Given the description of an element on the screen output the (x, y) to click on. 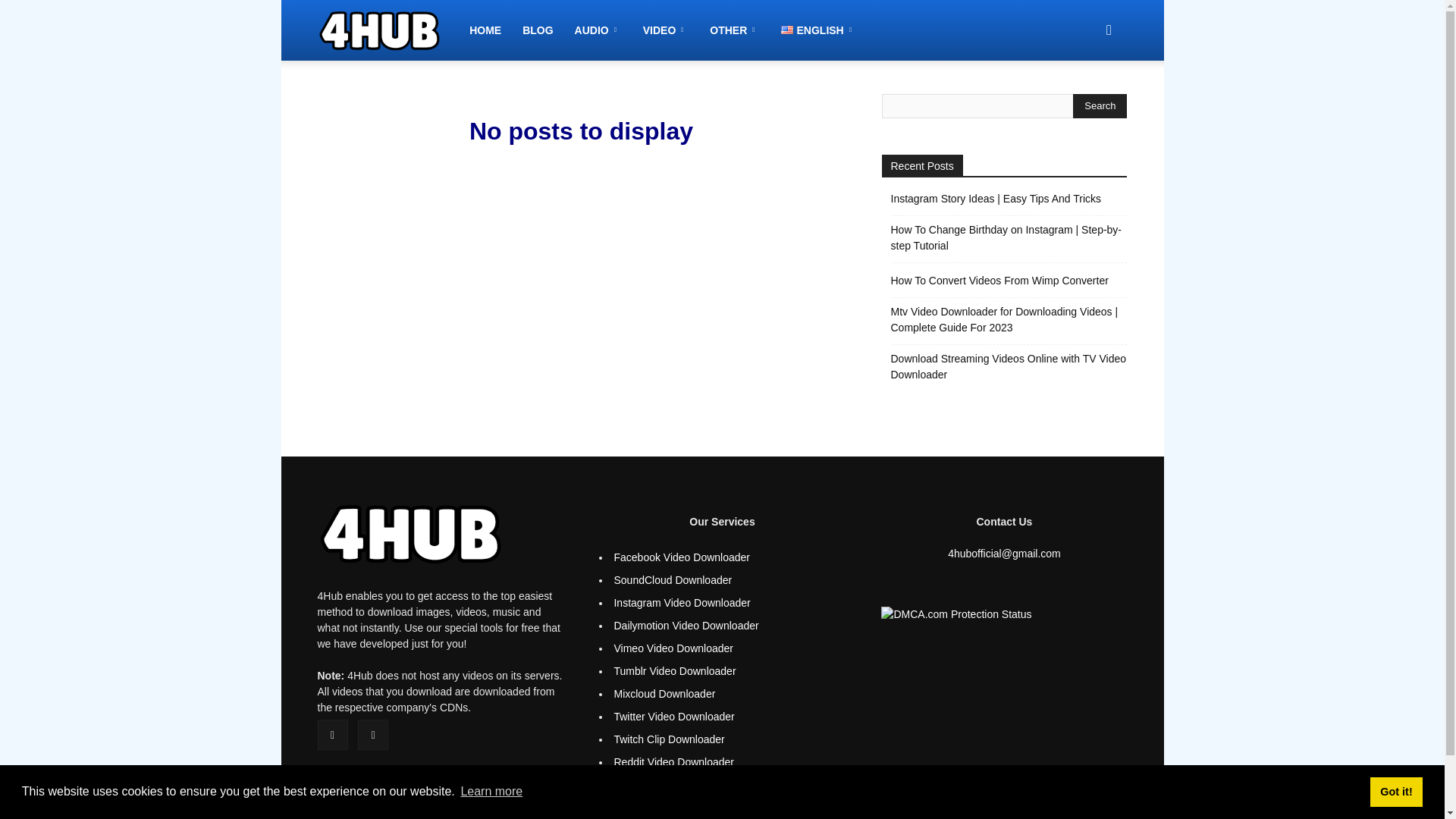
Search (1099, 105)
4Hub (387, 30)
DMCA.com Protection Status (955, 613)
Facebook (332, 734)
4Hub (410, 534)
Twitter (373, 734)
Learn more (491, 791)
Got it! (1396, 791)
4Hub (379, 30)
